Given the description of an element on the screen output the (x, y) to click on. 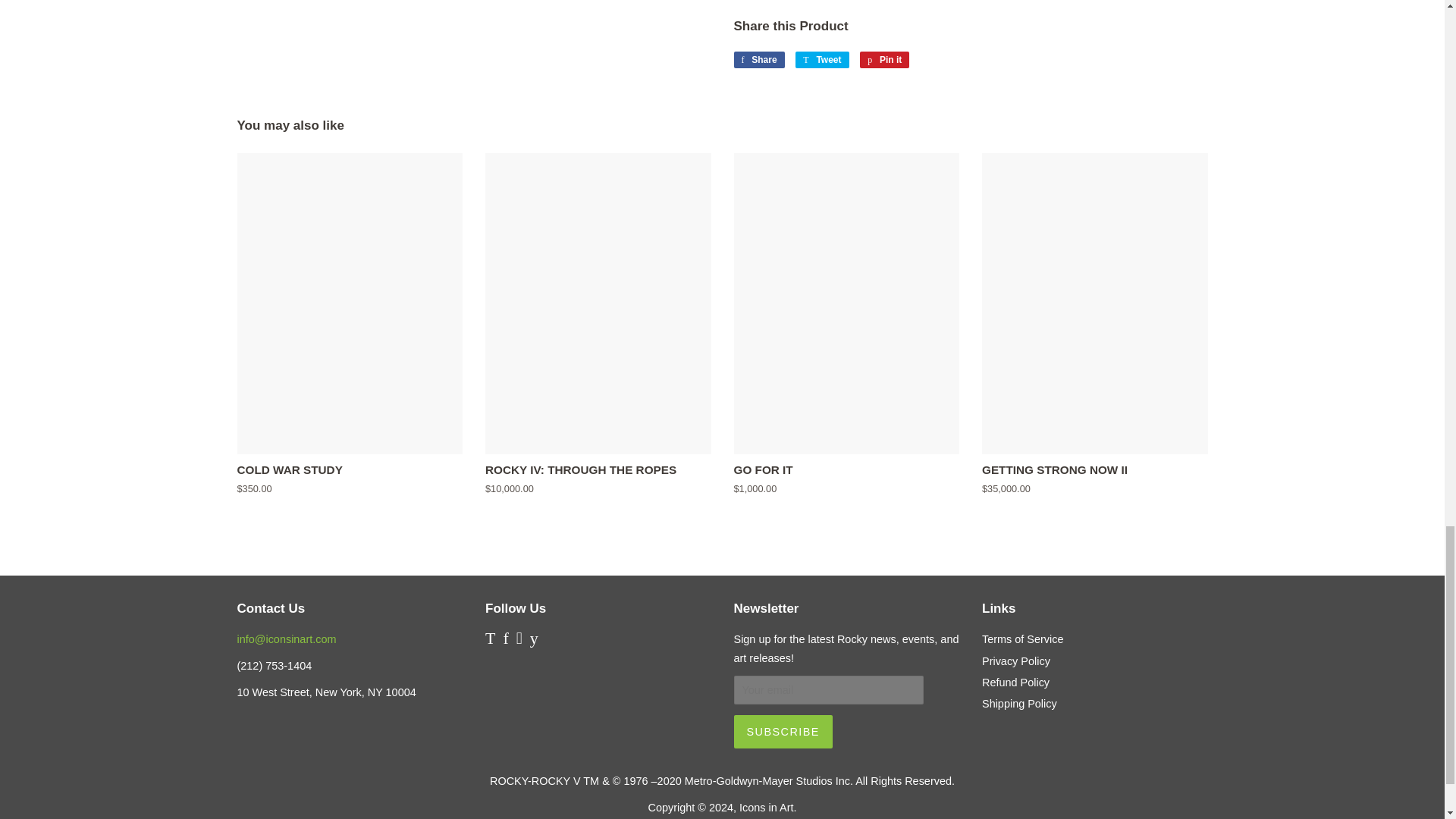
Subscribe (782, 731)
Share on Facebook (758, 59)
Pin on Pinterest (884, 59)
Tweet on Twitter (821, 59)
